Given the description of an element on the screen output the (x, y) to click on. 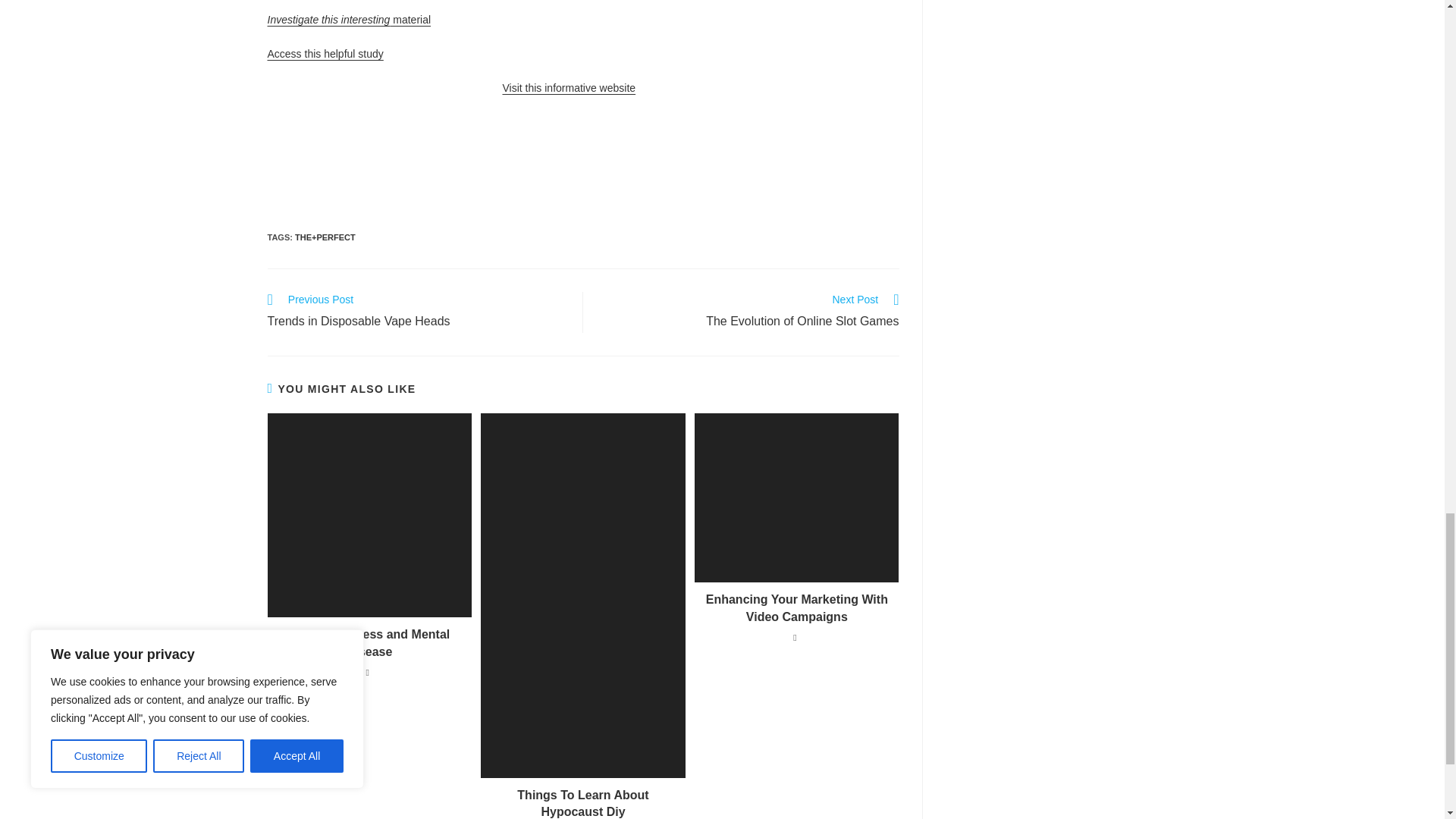
Visit this informative website (568, 87)
Access this helpful study (324, 53)
Investigate this interesting material (348, 19)
